Given the description of an element on the screen output the (x, y) to click on. 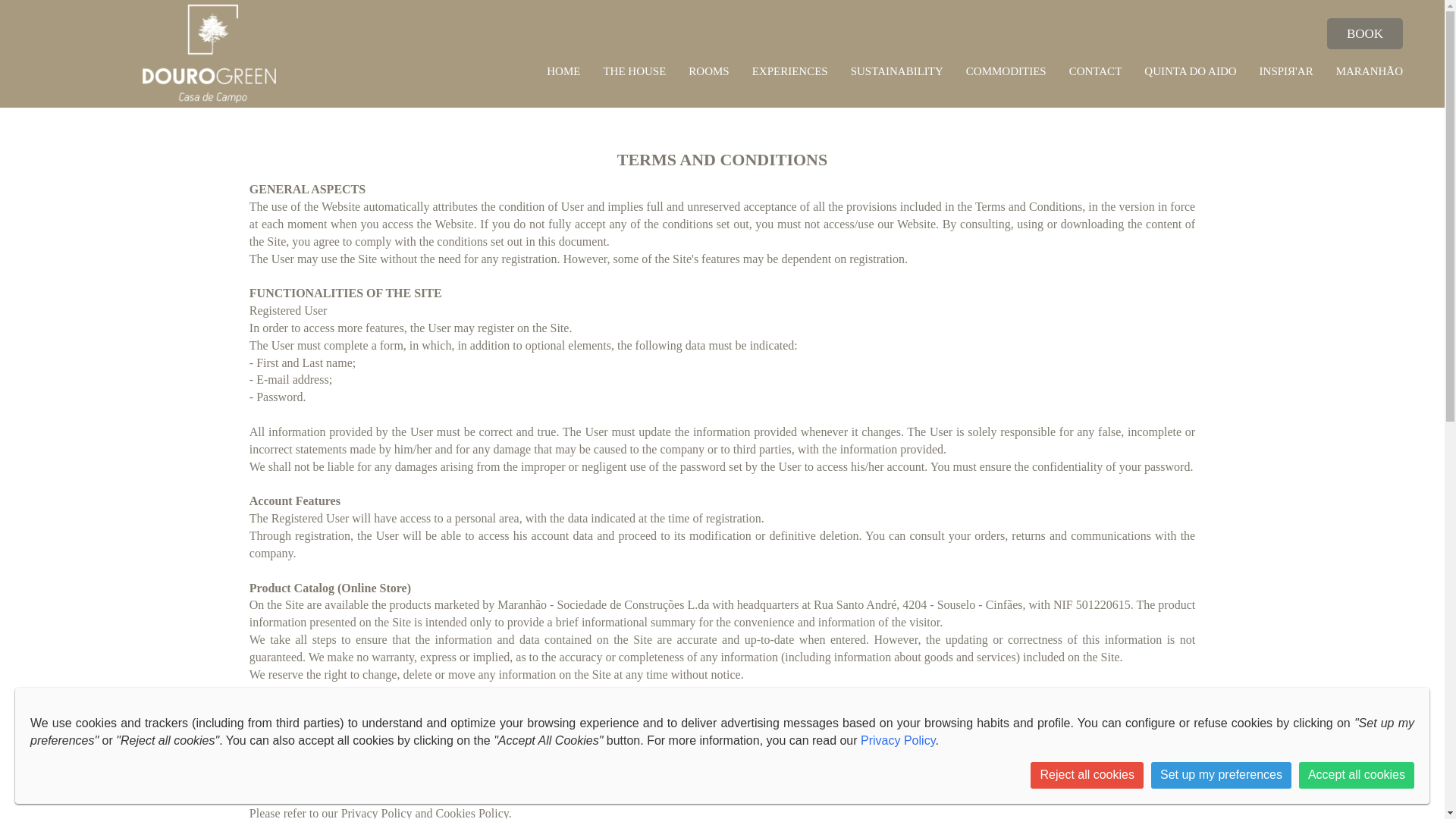
SUSTAINABILITY (896, 70)
QUINTA DO AIDO (1190, 70)
ROOMS (708, 70)
HOME (563, 70)
THE HOUSE (633, 70)
CONTACT (1095, 70)
EXPERIENCES (790, 70)
COMMODITIES (1006, 70)
BOOK (1364, 33)
